Given the description of an element on the screen output the (x, y) to click on. 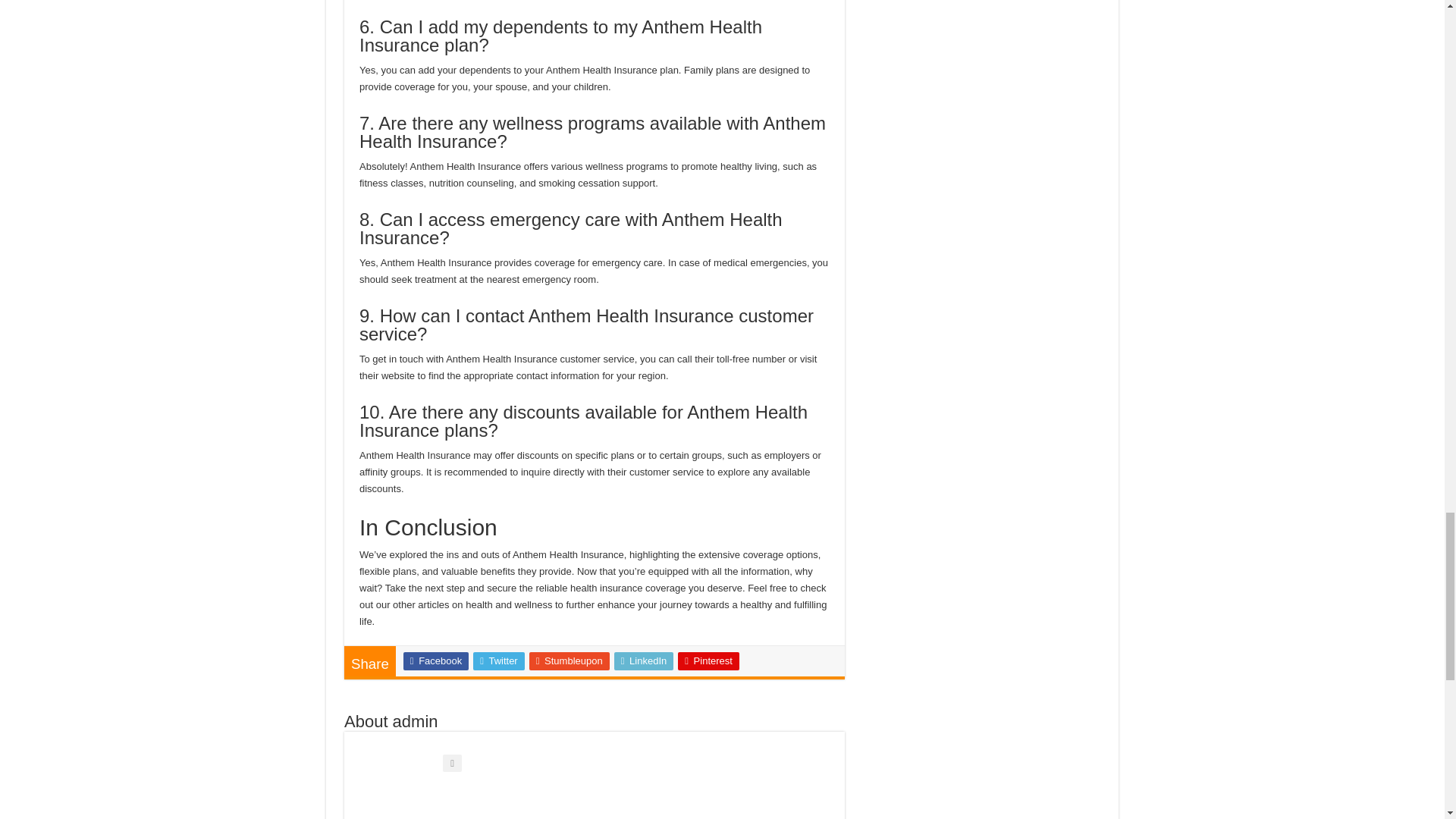
Twitter (498, 660)
LinkedIn (644, 660)
Stumbleupon (569, 660)
Pinterest (708, 660)
Facebook (435, 660)
